Given the description of an element on the screen output the (x, y) to click on. 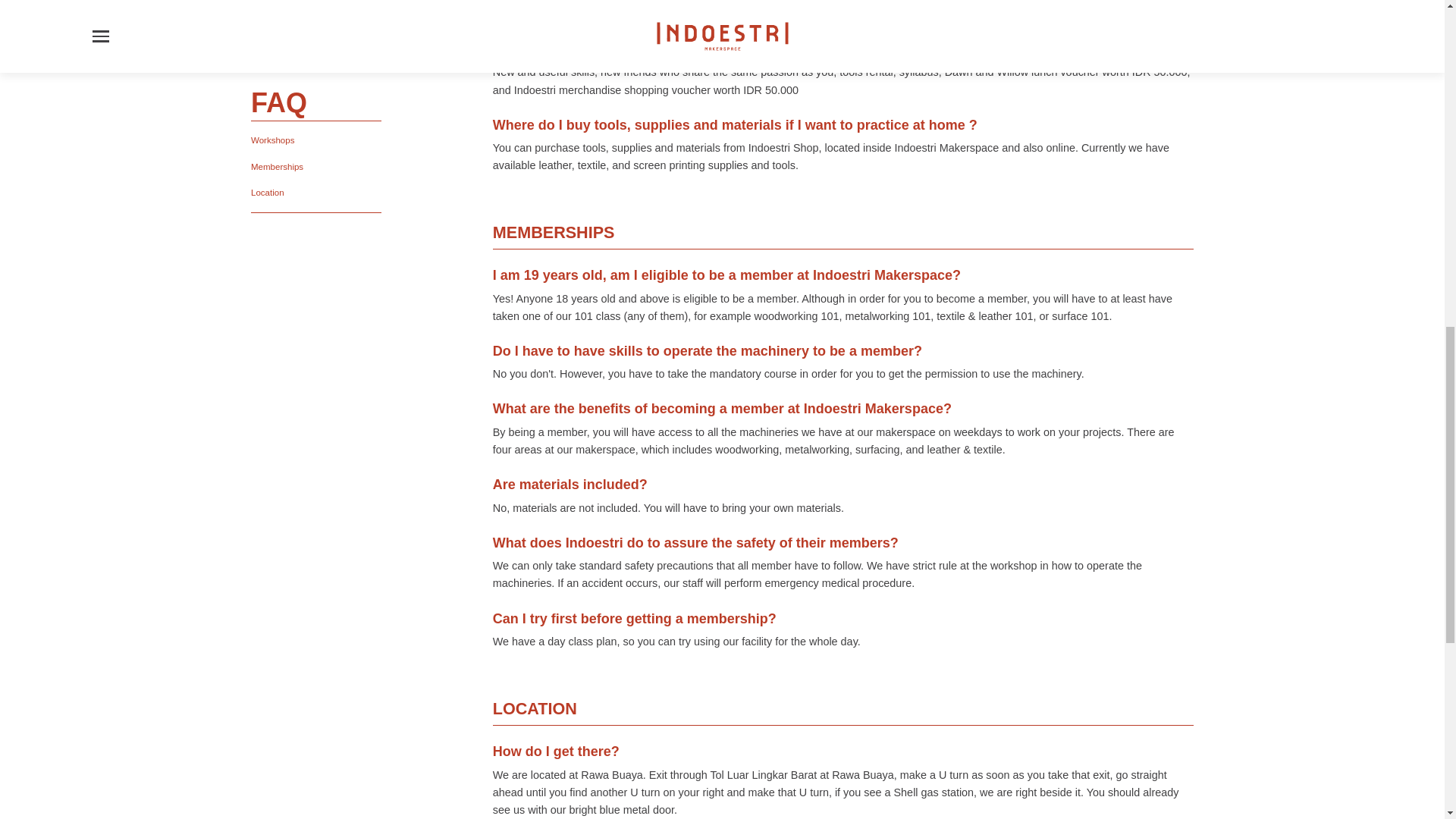
LOCATION (843, 667)
MEMBERSHIPS (843, 192)
